Given the description of an element on the screen output the (x, y) to click on. 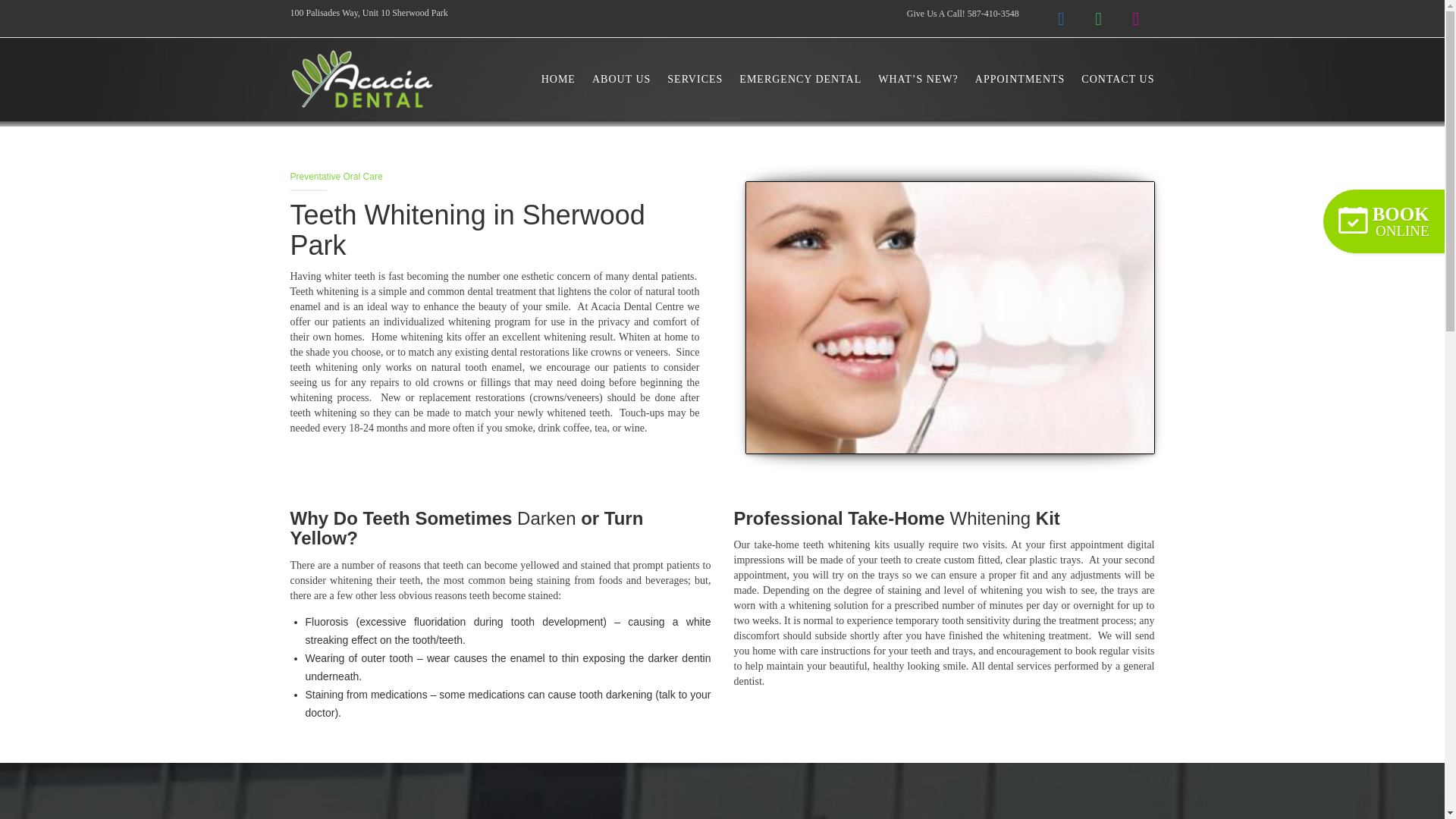
Give Us A Call! 587-410-3548 (963, 13)
100 Palisades Way, Unit 10 Sherwood Park (367, 12)
